Given the description of an element on the screen output the (x, y) to click on. 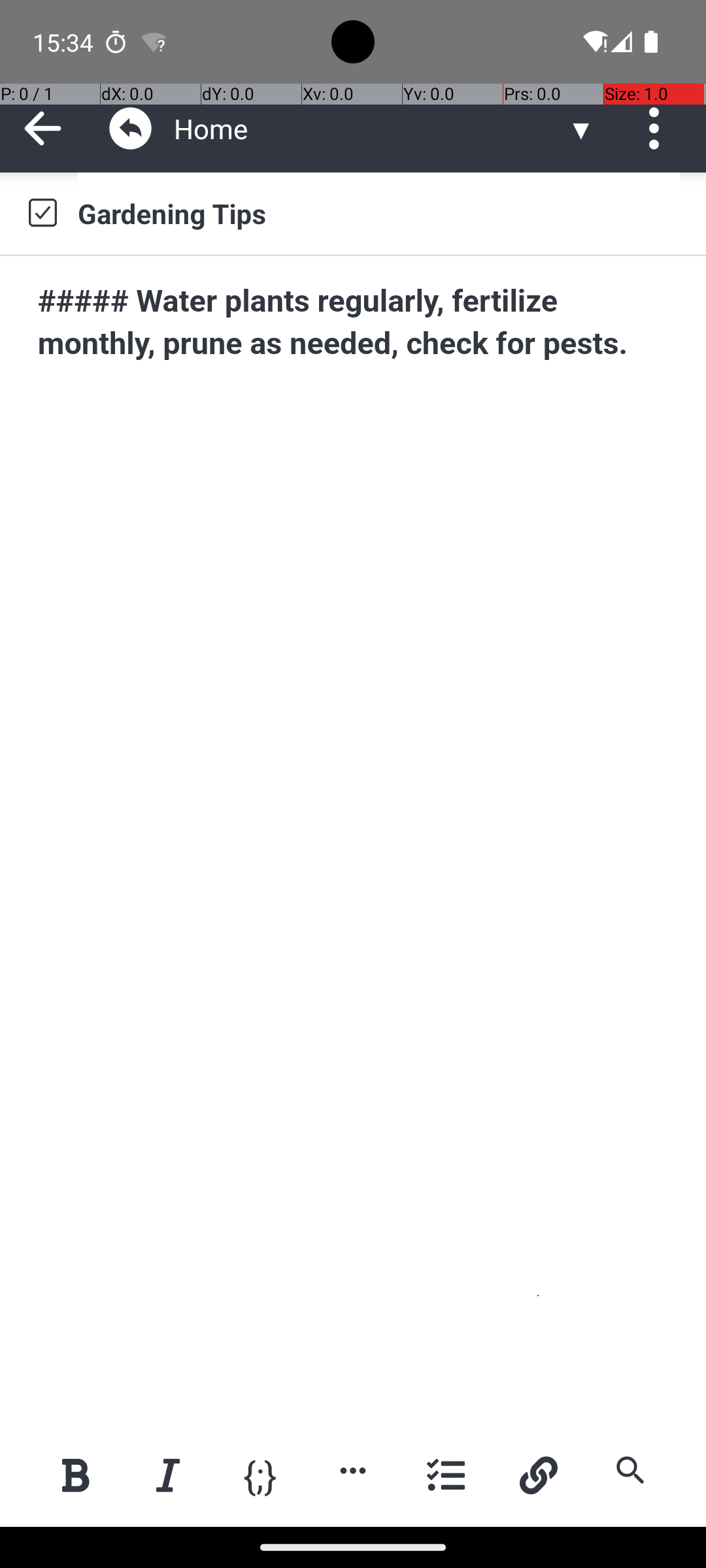
##### Water plants regularly, fertilize monthly, prune as needed, check for pests. Element type: android.widget.EditText (354, 322)
